Given the description of an element on the screen output the (x, y) to click on. 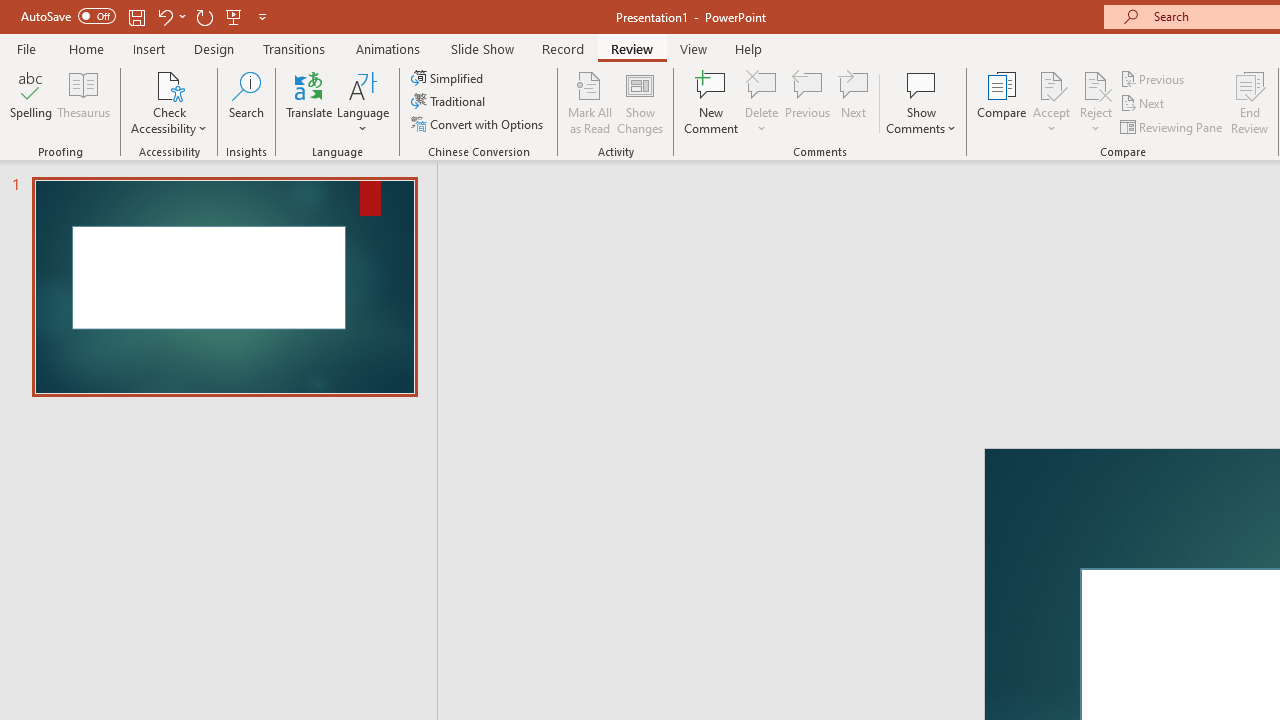
Convert with Options... (479, 124)
Reject (1096, 102)
